Given the description of an element on the screen output the (x, y) to click on. 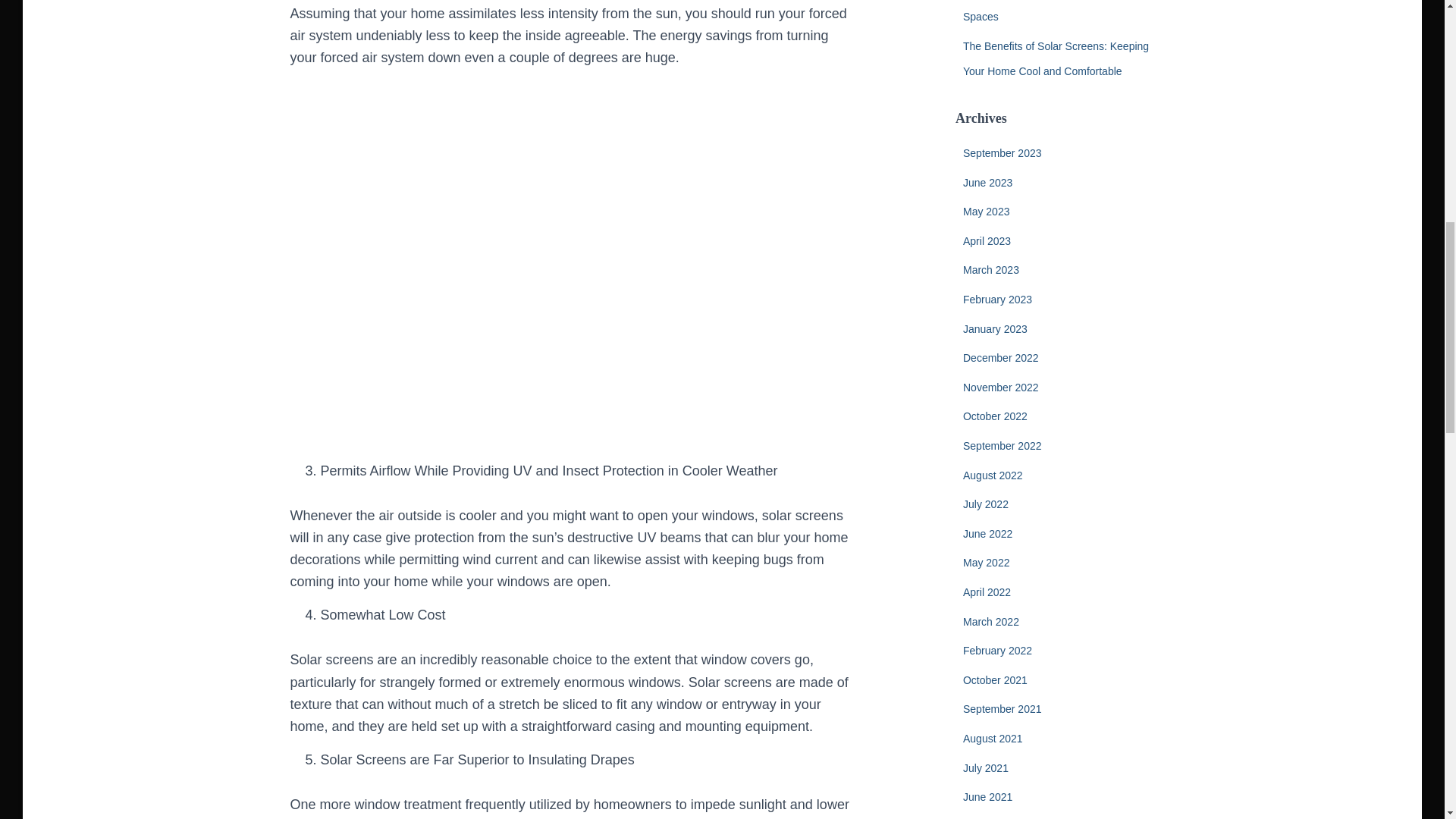
April 2023 (986, 241)
August 2022 (992, 475)
March 2023 (990, 269)
January 2023 (994, 328)
November 2022 (1000, 387)
May 2023 (985, 211)
June 2023 (986, 182)
September 2023 (1002, 152)
